Given the description of an element on the screen output the (x, y) to click on. 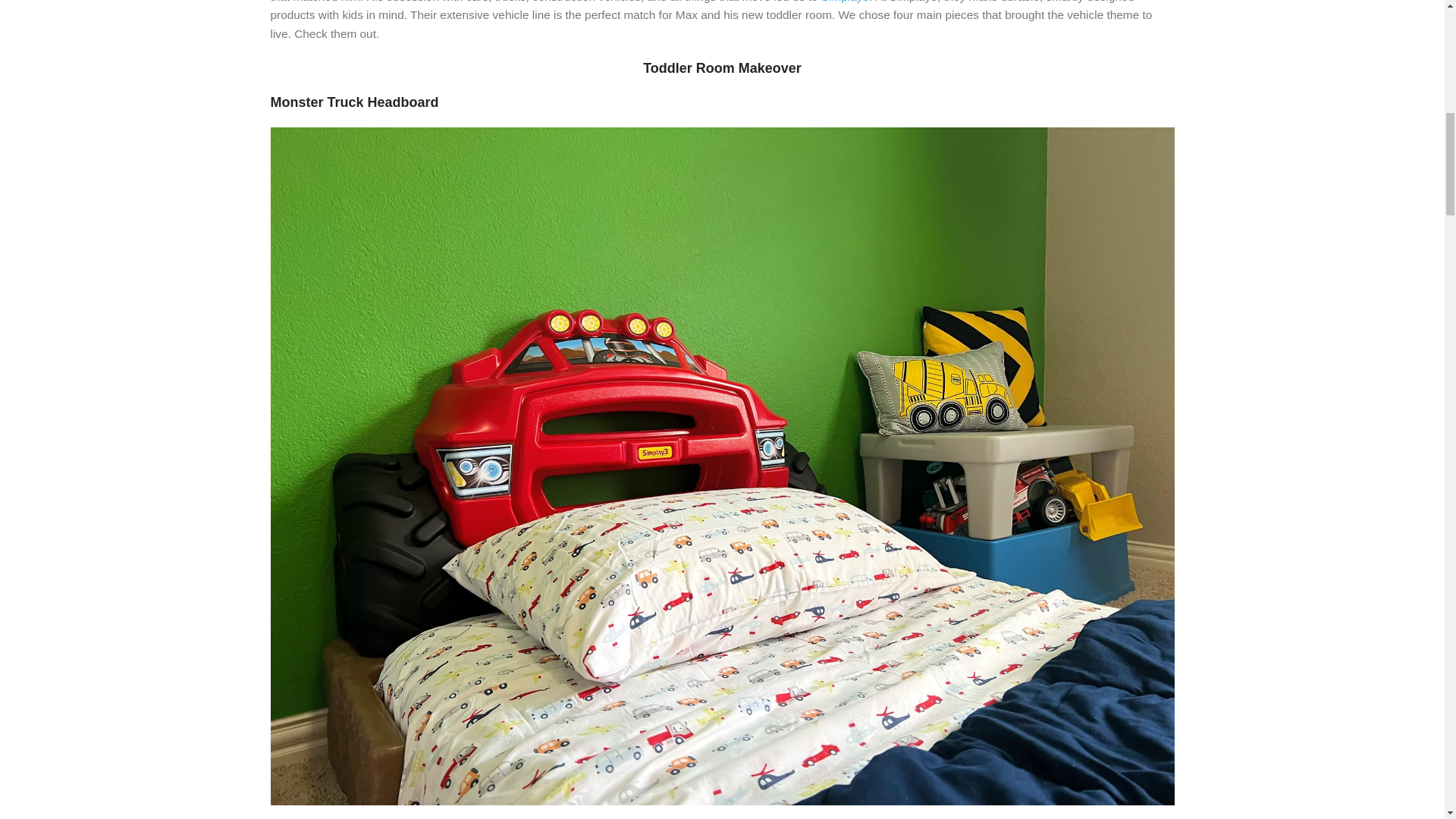
Simplay3 (845, 1)
